Given the description of an element on the screen output the (x, y) to click on. 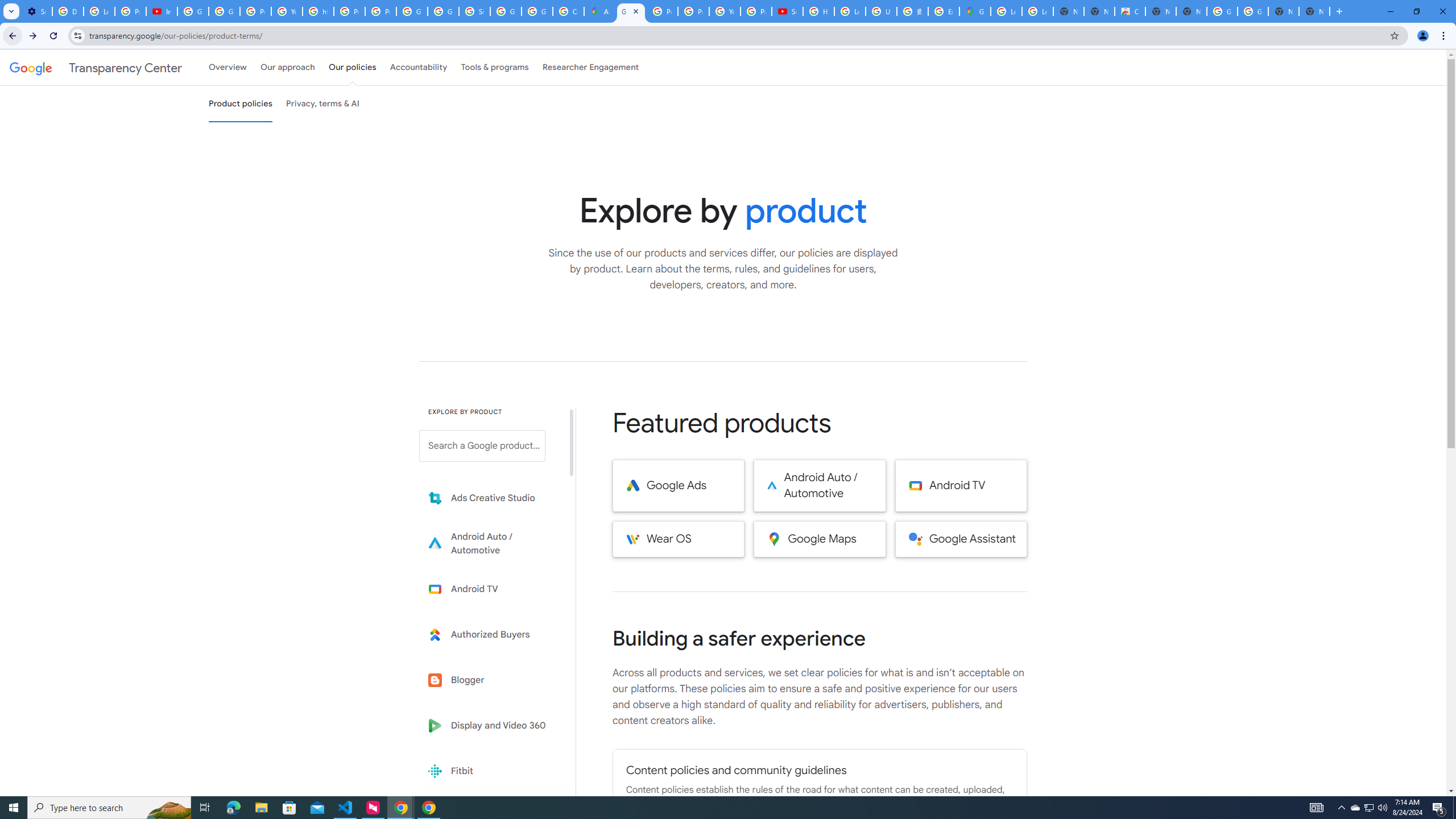
Subscriptions - YouTube (787, 11)
Google Images (1222, 11)
Google Assistant (960, 538)
Tools & programs (494, 67)
Our approach (287, 67)
Delete photos & videos - Computer - Google Photos Help (67, 11)
Our policies (351, 67)
